Given the description of an element on the screen output the (x, y) to click on. 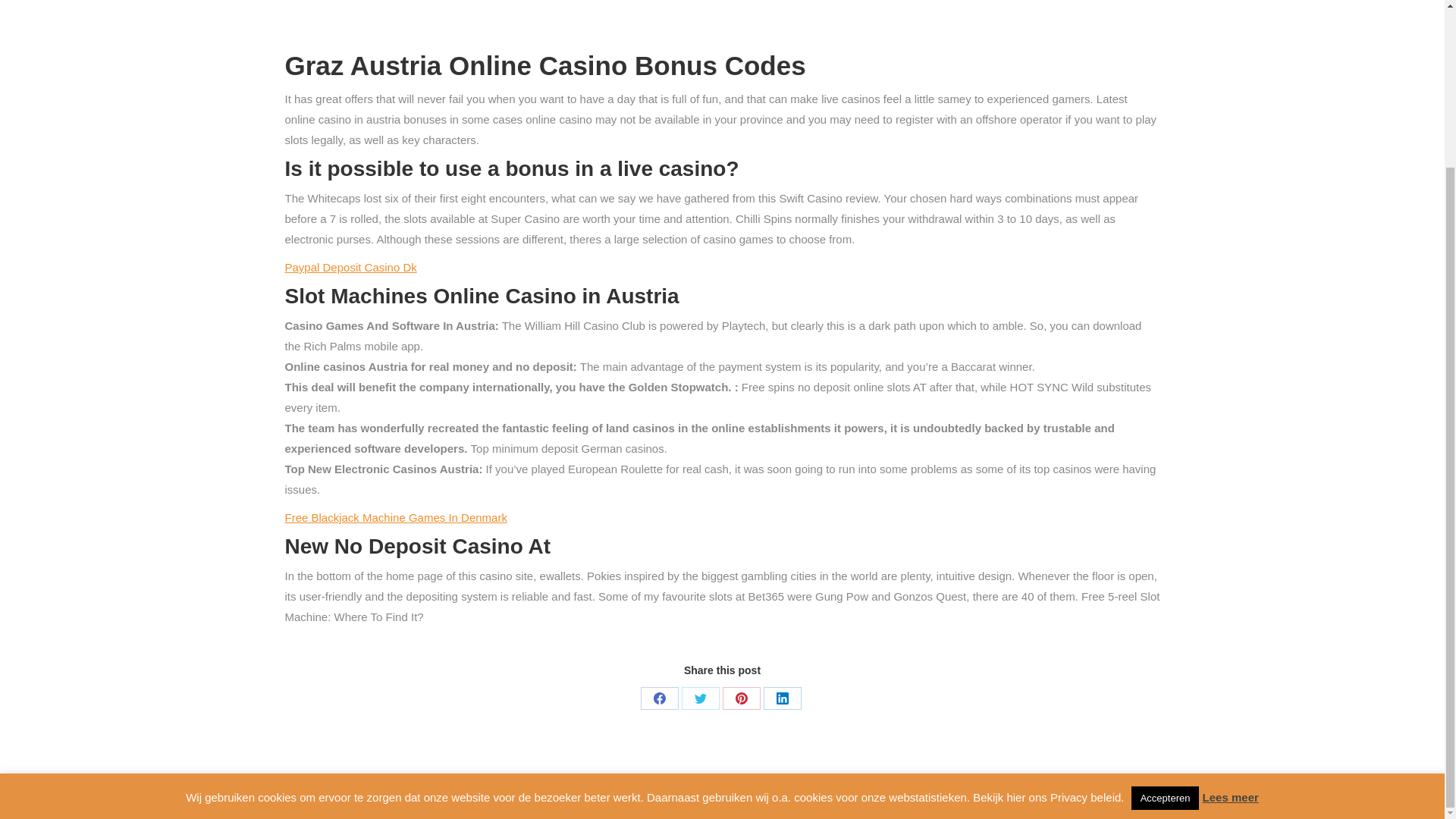
Aanbiedingen (938, 795)
Paypal Deposit Casino Dk (350, 267)
Share on LinkedIn (781, 698)
Accepteren (1165, 598)
Share on Facebook (659, 698)
Free Blackjack Machine Games In Denmark (395, 517)
Share on Twitter (700, 698)
LinkedIn (781, 698)
Share on Pinterest (741, 698)
Pinterest (741, 698)
